Given the description of an element on the screen output the (x, y) to click on. 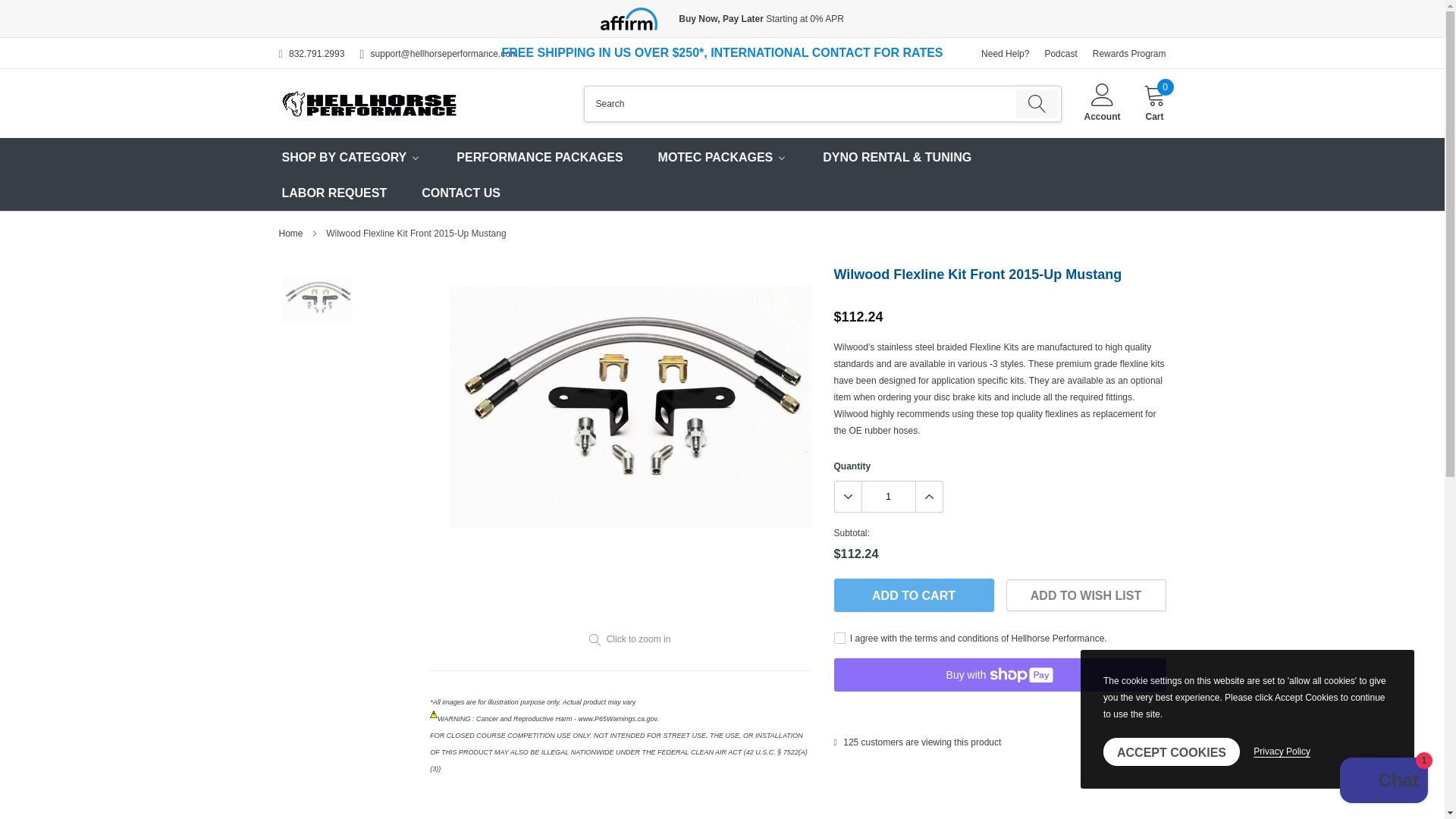
1 (887, 496)
search (1037, 103)
Shopify online store chat (1383, 781)
